Given the description of an element on the screen output the (x, y) to click on. 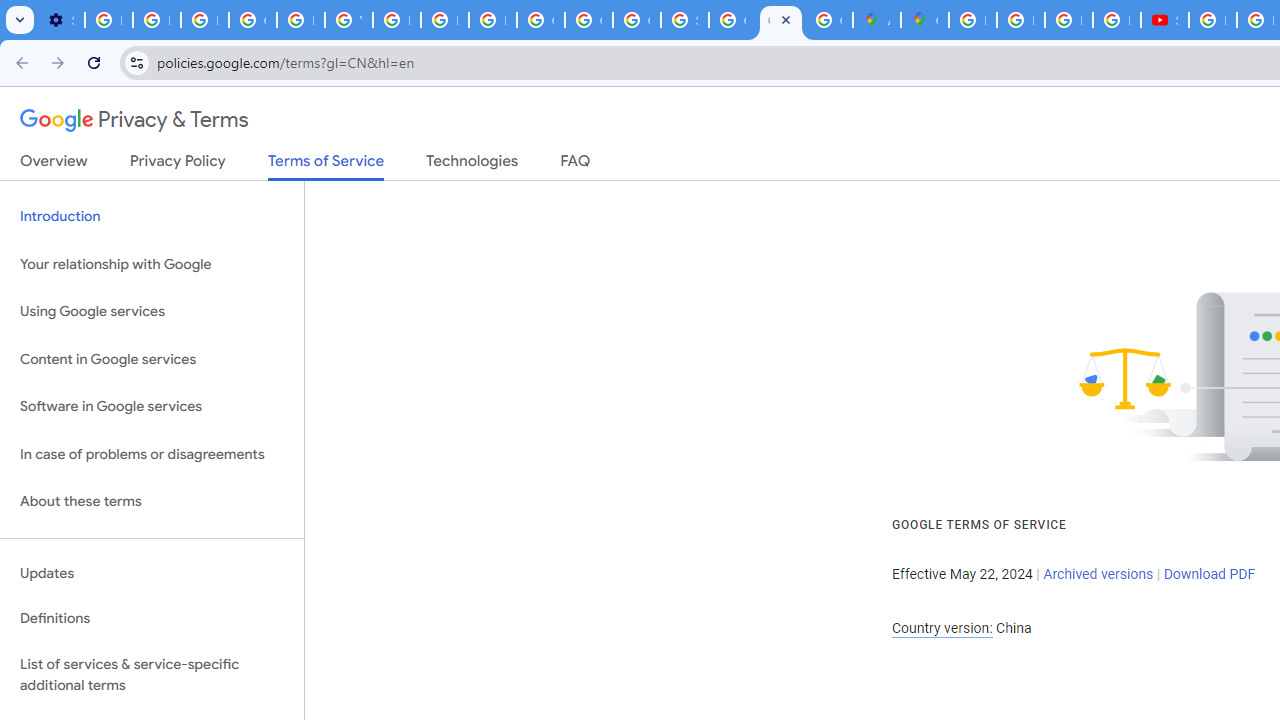
Software in Google services (152, 407)
Sign in - Google Accounts (684, 20)
Privacy Help Center - Policies Help (1020, 20)
Using Google services (152, 312)
Privacy Help Center - Policies Help (1068, 20)
Country version: (942, 628)
